Given the description of an element on the screen output the (x, y) to click on. 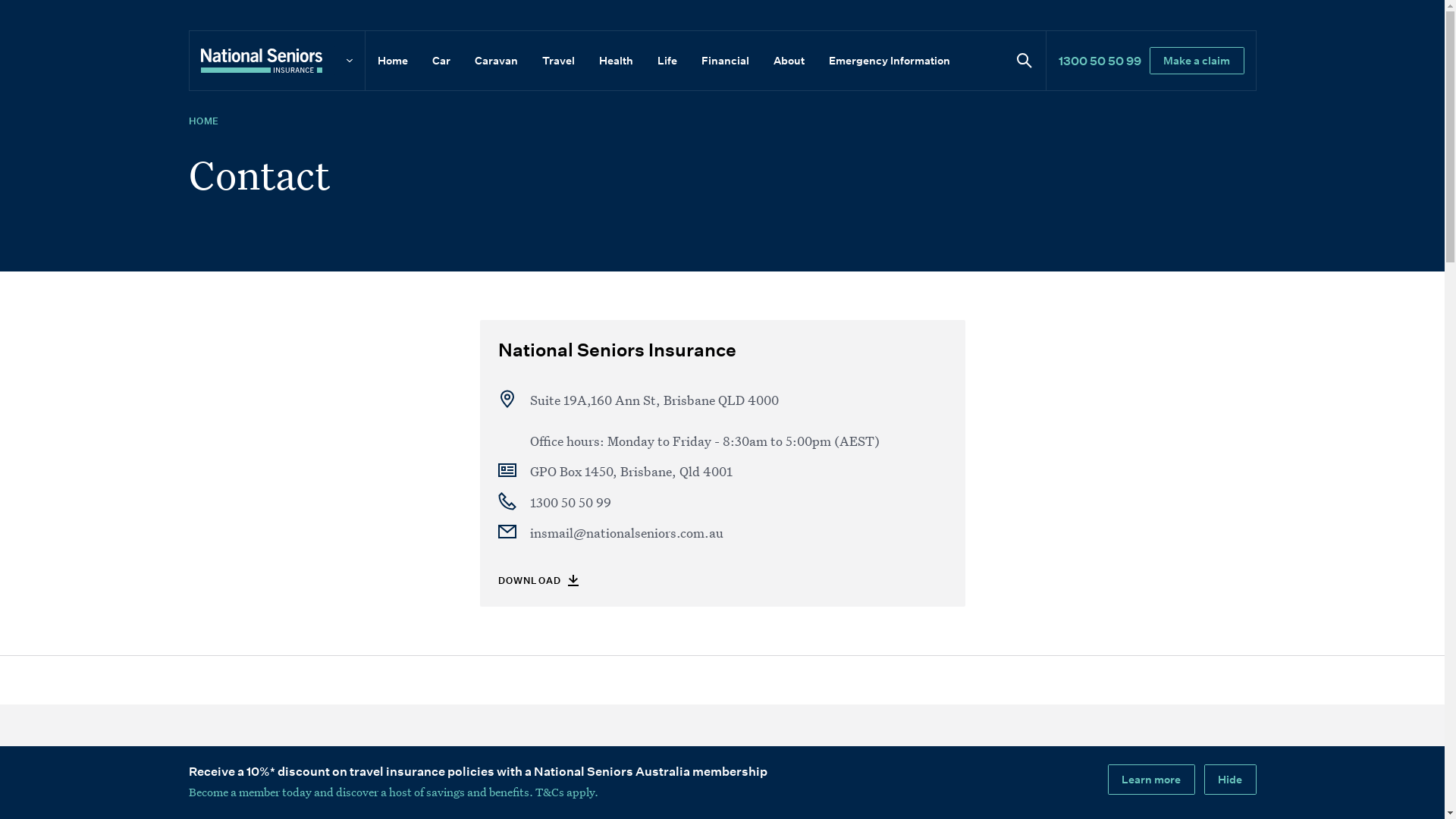
Toggle Website Menu Element type: hover (348, 60)
Learn more Element type: text (1150, 779)
1300 50 50 99 Element type: text (1099, 60)
DOWNLOAD Element type: text (538, 579)
National Seniors Insurance Element type: text (616, 349)
National Seniors Insurance Logo - Link to homepage Element type: hover (276, 60)
About Element type: text (788, 60)
HOME Element type: text (202, 120)
Travel Element type: text (557, 60)
1300 50 50 99 Element type: text (737, 501)
Home Element type: text (392, 60)
Caravan Element type: text (496, 60)
Make a claim Element type: text (1196, 60)
Financial Element type: text (724, 60)
Hide Element type: text (1230, 779)
Car Element type: text (441, 60)
Emergency Information Element type: text (888, 60)
Life Element type: text (666, 60)
insmail@nationalseniors.com.au Element type: text (737, 532)
Health Element type: text (615, 60)
